Given the description of an element on the screen output the (x, y) to click on. 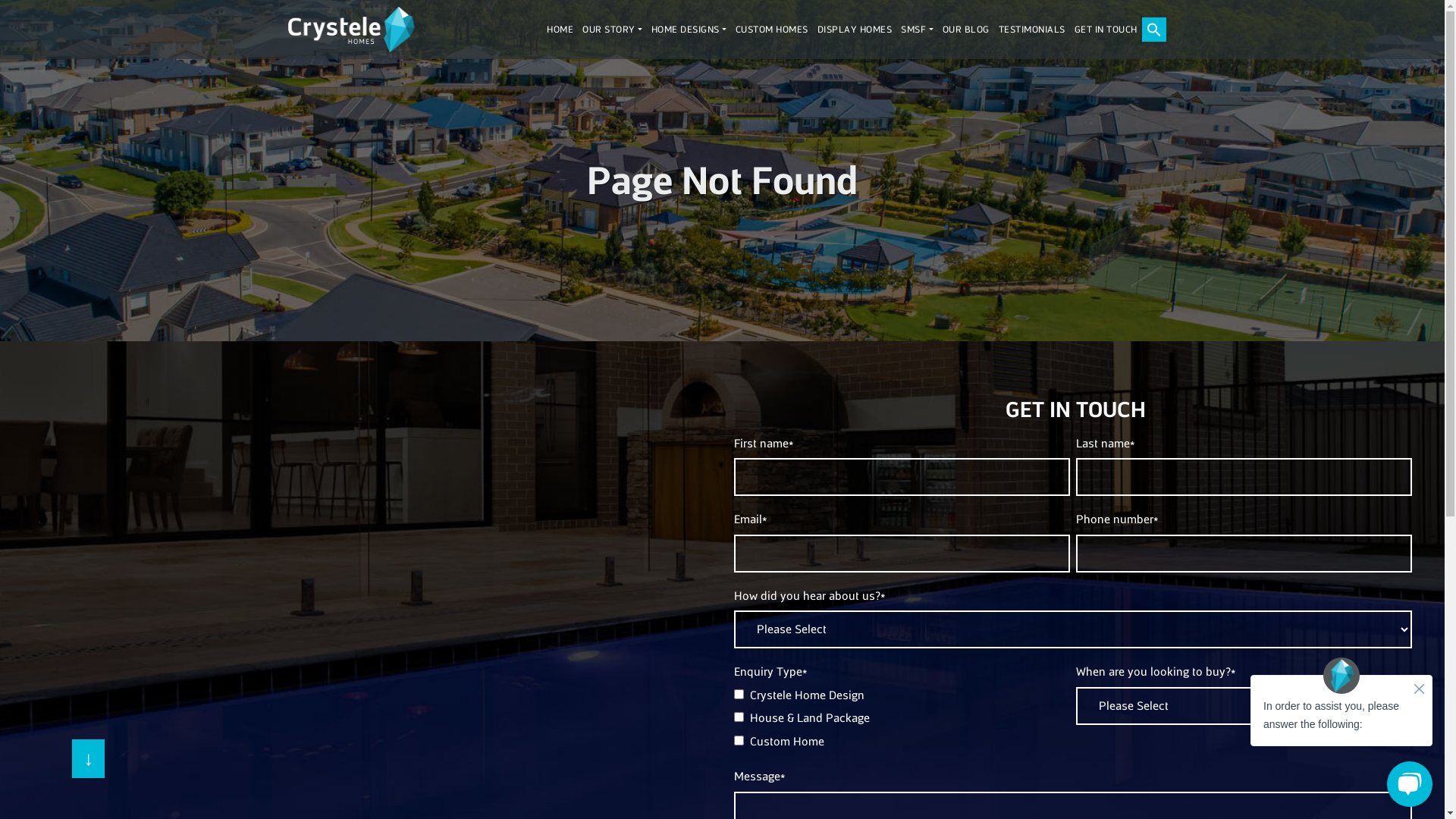
DISPLAY HOMES Element type: text (854, 29)
CUSTOM HOMES Element type: text (771, 29)
SMSF Element type: text (916, 29)
HOME DESIGNS Element type: text (688, 29)
OUR BLOG Element type: text (965, 29)
OUR STORY Element type: text (611, 29)
TESTIMONIALS Element type: text (1031, 29)
GET IN TOUCH Element type: text (1105, 29)
HOME Element type: text (559, 29)
